Given the description of an element on the screen output the (x, y) to click on. 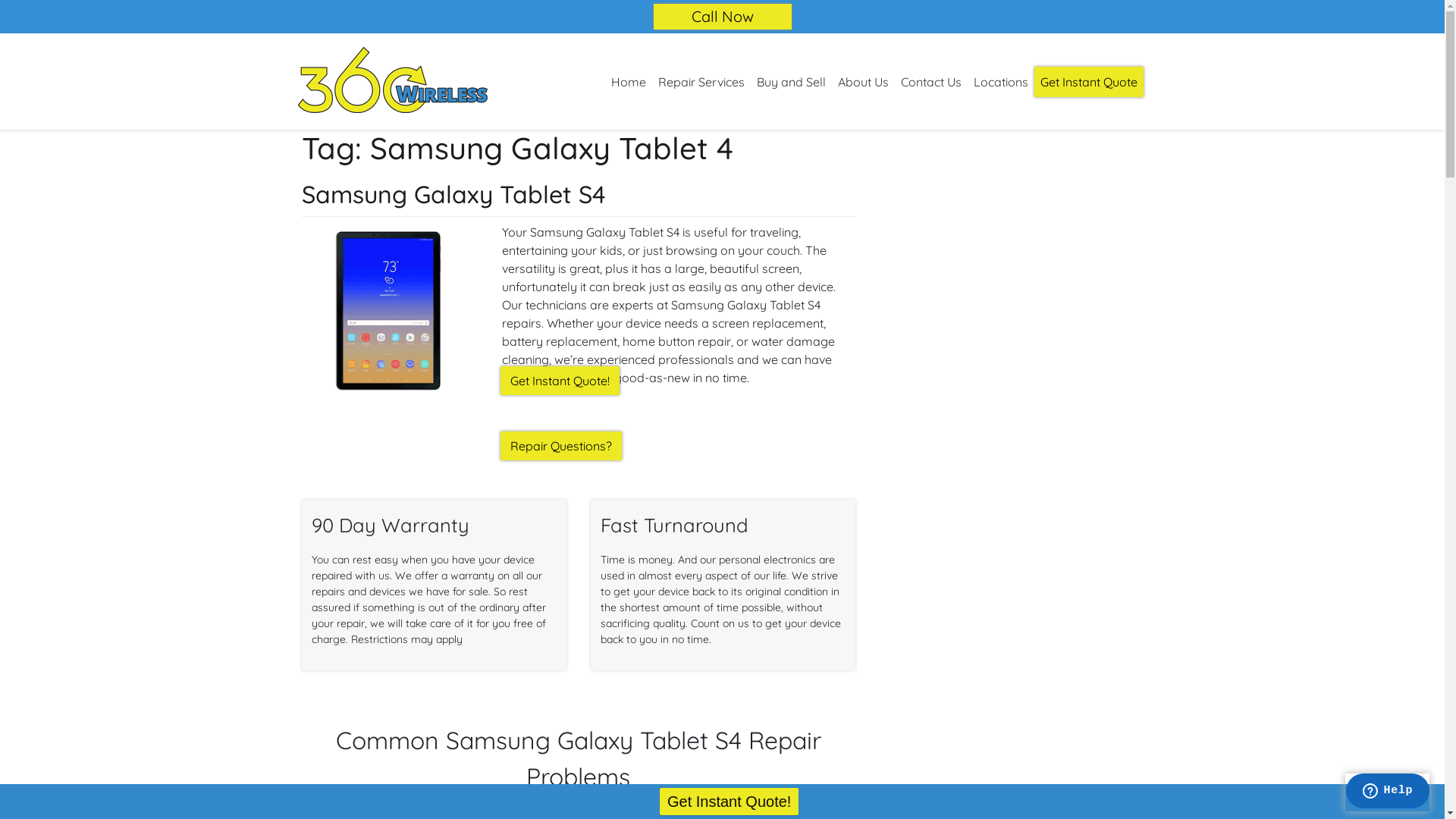
Buy and Sell Element type: text (790, 81)
Home Element type: text (628, 81)
Get Instant Quote Element type: text (1088, 81)
Call Now Element type: text (722, 16)
Repair Services Element type: text (701, 81)
Repair Questions? Element type: text (560, 445)
Get Instant Quote! Element type: text (728, 801)
About Us Element type: text (862, 81)
Samsung Galaxy Tablet S4 Element type: text (453, 193)
Locations Element type: text (1000, 81)
Opens a widget where you can chat to one of our agents Element type: hover (1387, 792)
Contact Us Element type: text (930, 81)
Get Instant Quote! Element type: text (559, 380)
